Given the description of an element on the screen output the (x, y) to click on. 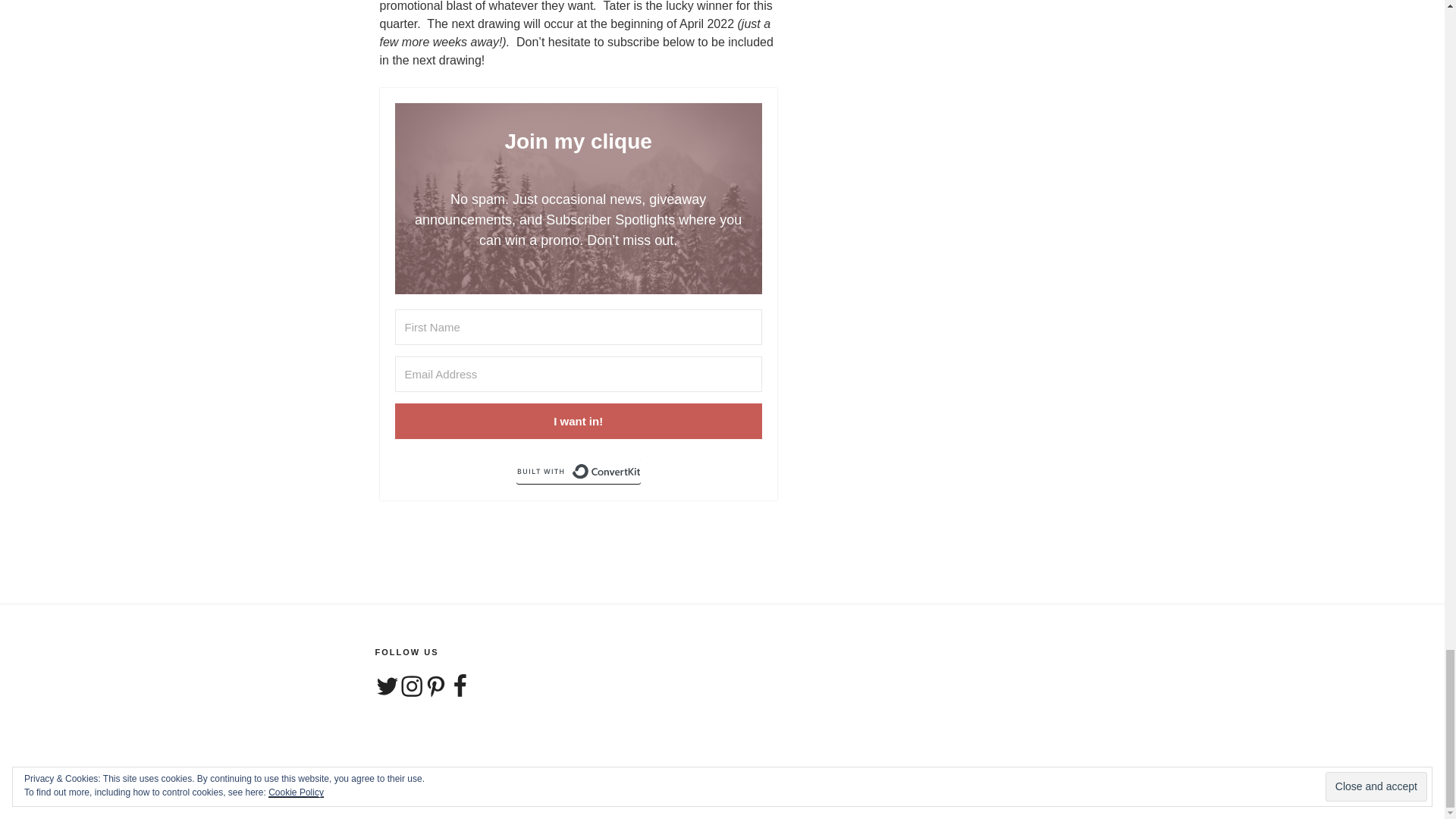
I want in! (577, 420)
Built with ConvertKit (578, 471)
